Given the description of an element on the screen output the (x, y) to click on. 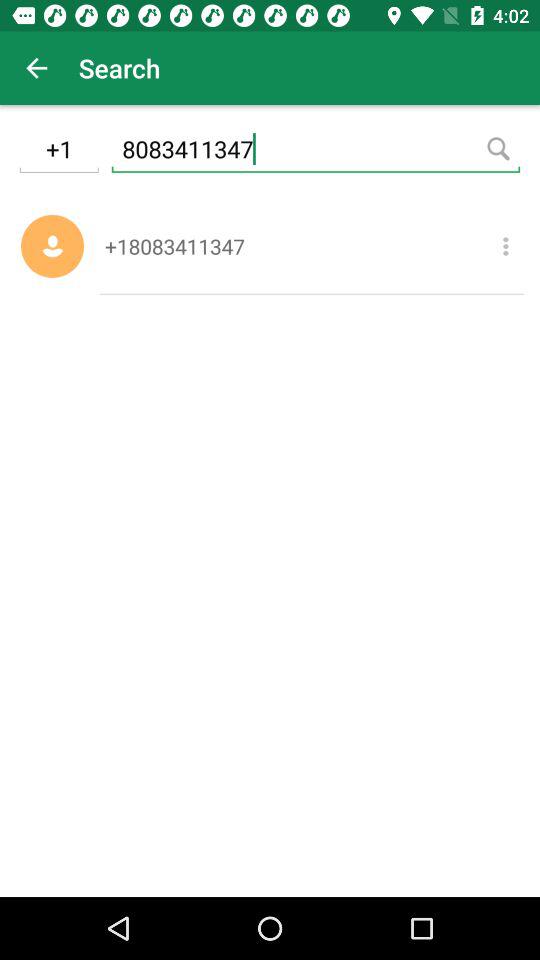
tap the item to the left of 8083411347 (58, 151)
